Given the description of an element on the screen output the (x, y) to click on. 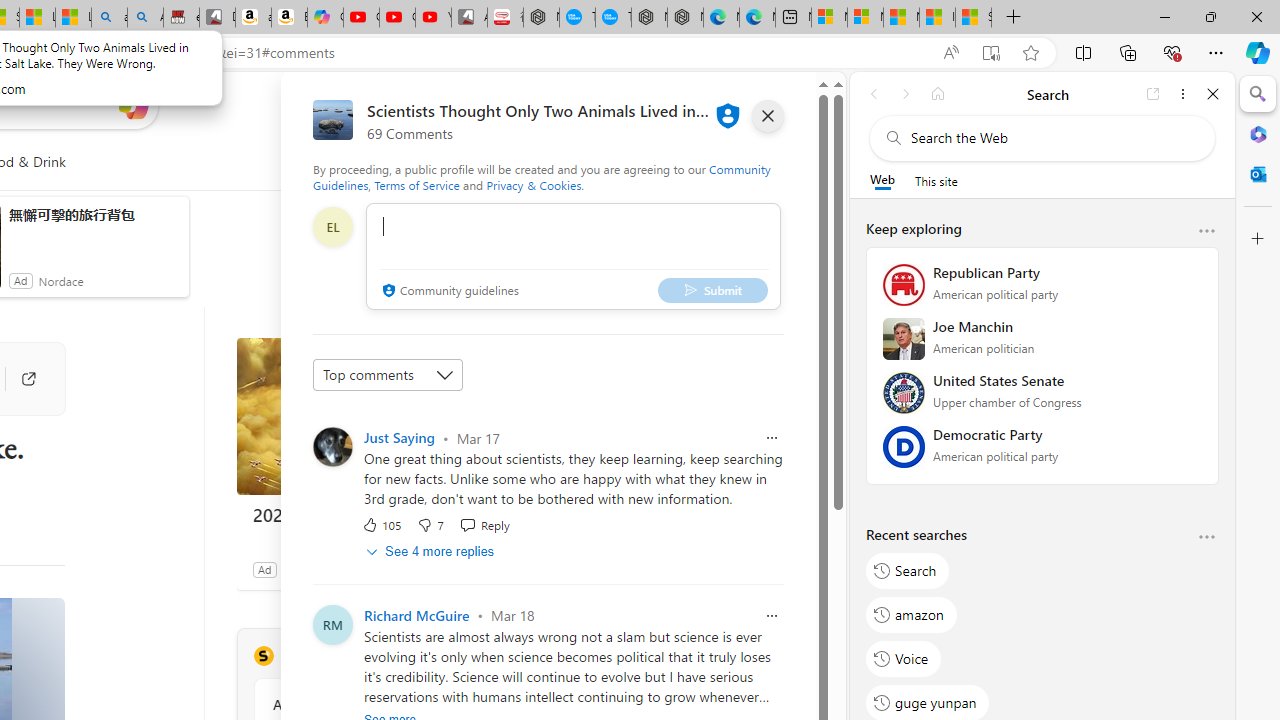
Copilot (325, 17)
New Tab (1013, 17)
Republican Party American political party (1042, 291)
Home (938, 93)
close (767, 115)
Collections (1128, 52)
Close (1213, 93)
Forward (906, 93)
Forge of Empires (326, 569)
Add this page to favorites (Ctrl+D) (1030, 53)
Ad (264, 569)
Microsoft account | Privacy (865, 17)
Outlook (1258, 174)
